Given the description of an element on the screen output the (x, y) to click on. 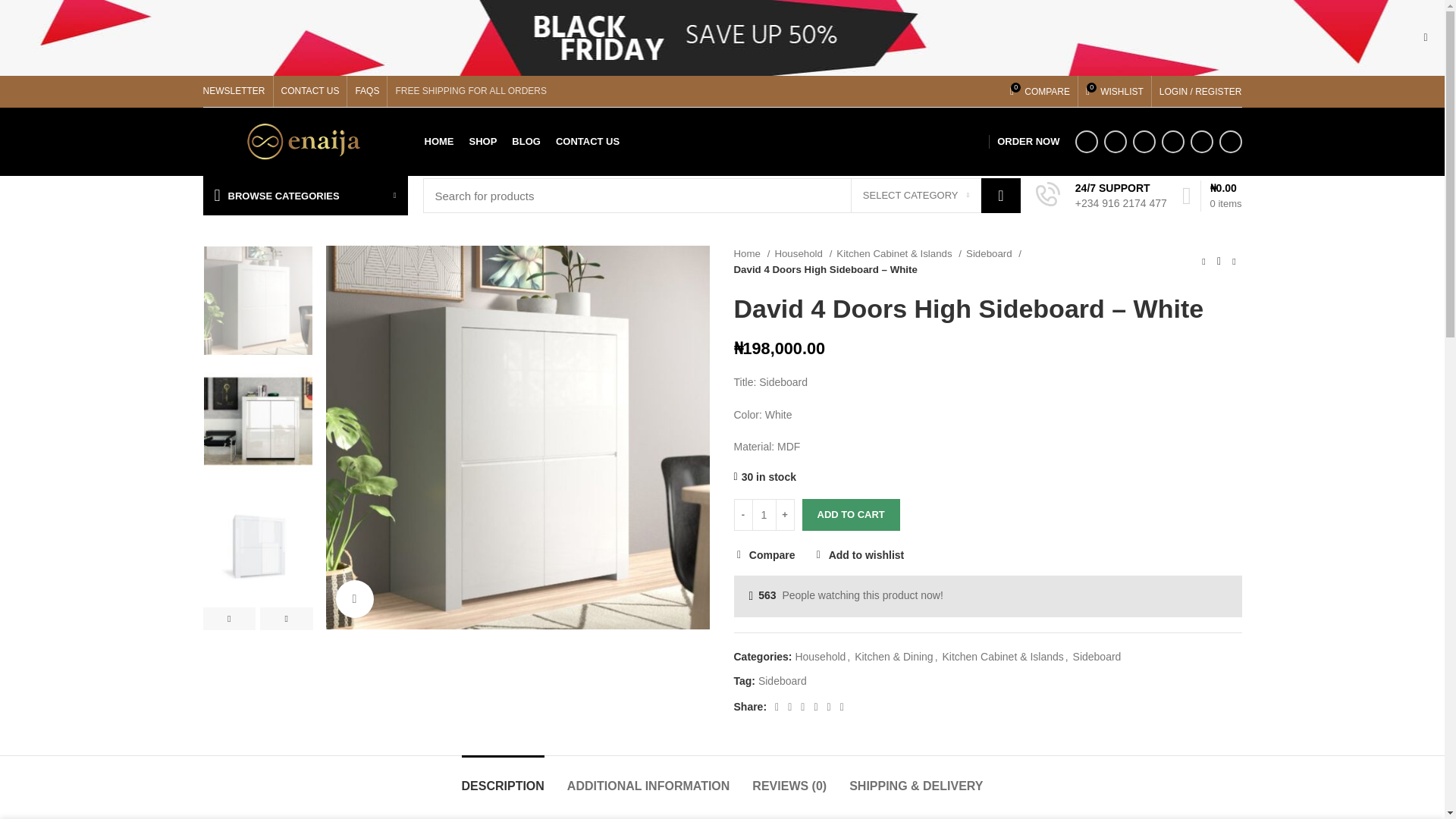
SPECIAL OFFER (941, 141)
BLOG (525, 141)
My account (1200, 91)
SELECT CATEGORY (915, 195)
HOME (438, 141)
CONTACT US (310, 91)
ORDER NOW (1028, 141)
NEWSLETTER (234, 91)
CONTACT US (587, 141)
My Wishlist (1114, 91)
